Given the description of an element on the screen output the (x, y) to click on. 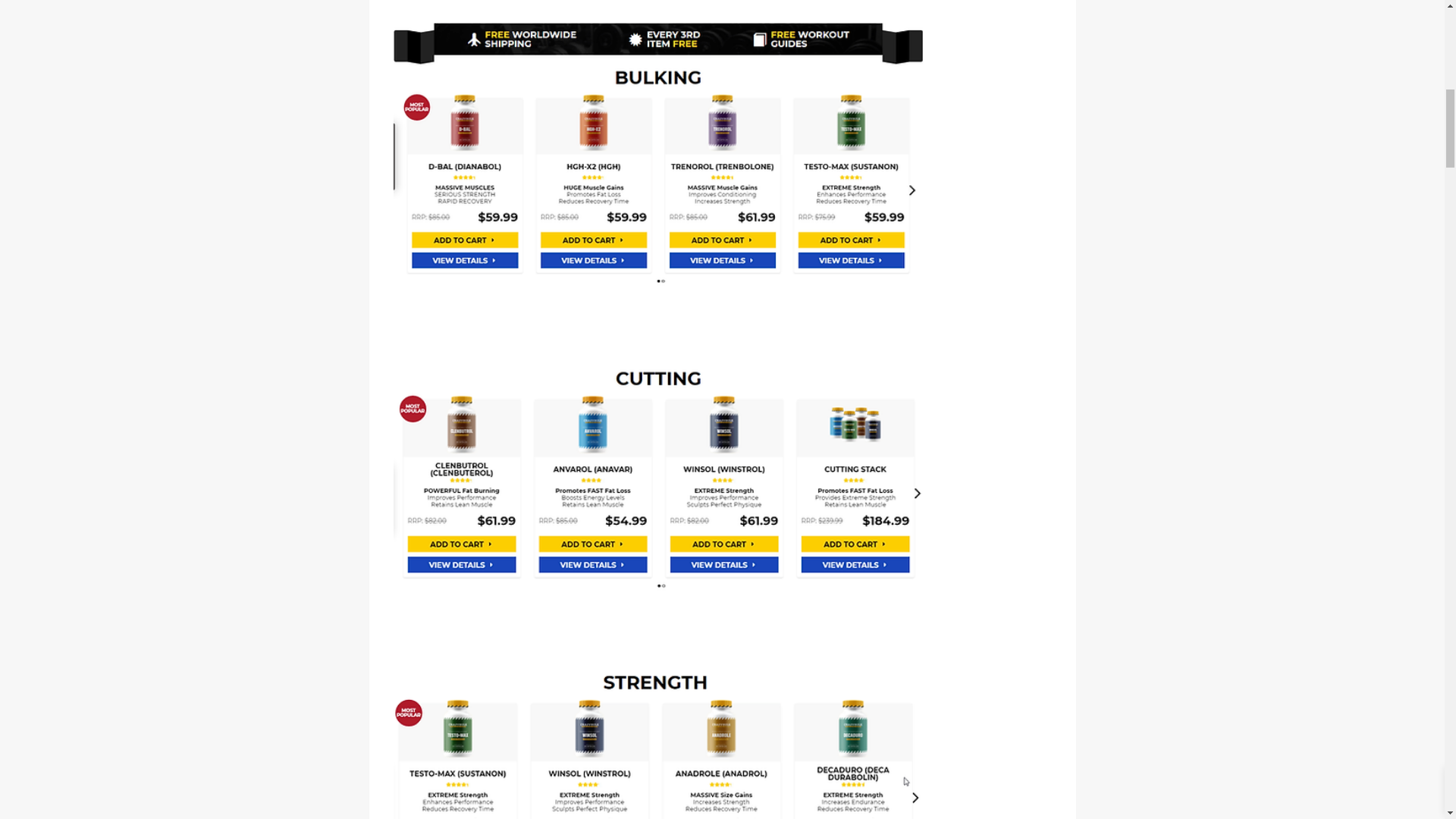
pics after and winstrol before (658, 476)
and before after pics winstrol (658, 740)
